Given the description of an element on the screen output the (x, y) to click on. 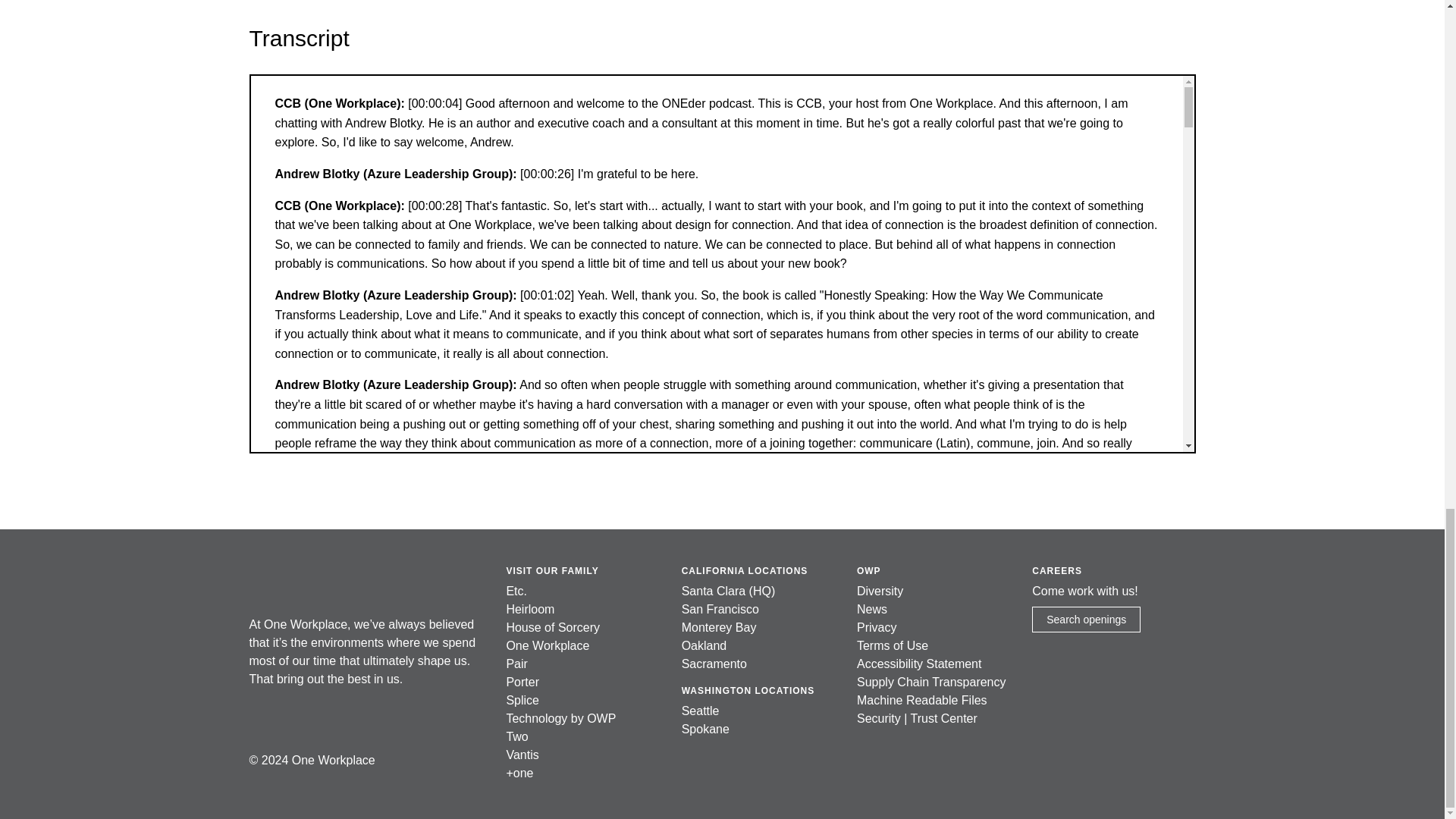
LinkedIn (260, 718)
Instagram (293, 718)
Apple (360, 718)
Etc. (516, 590)
One Workplace (300, 580)
House of Sorcery (552, 626)
Heirloom (529, 608)
YouTube (327, 718)
